Given the description of an element on the screen output the (x, y) to click on. 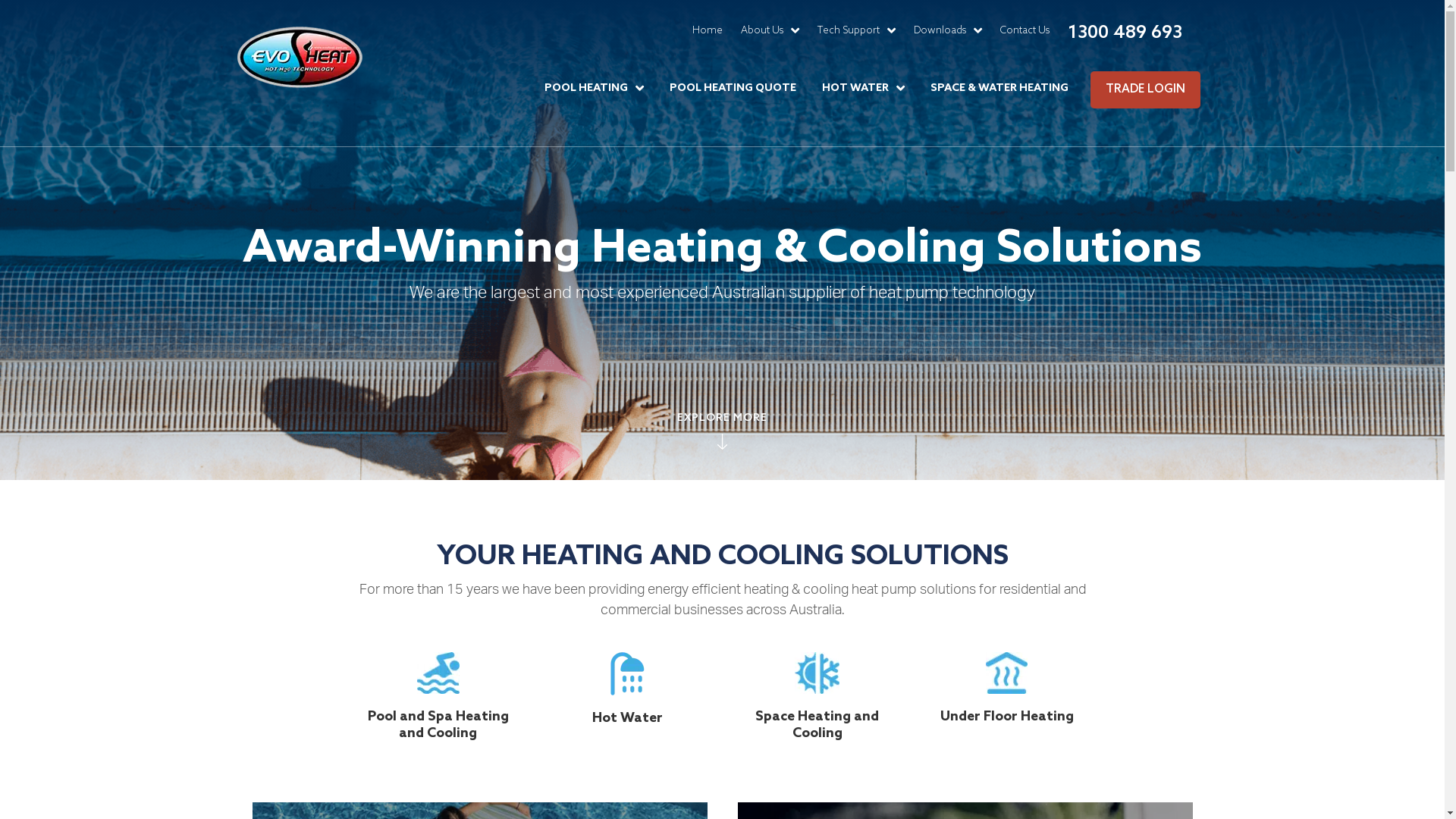
Pool and Spa Heating and Cooling Element type: text (437, 724)
POOL HEATING Element type: text (593, 87)
POOL HEATING QUOTE Element type: text (731, 87)
Home Element type: text (706, 30)
icon-space-heating Element type: hover (816, 651)
icon-pool Element type: hover (438, 651)
Downloads Element type: text (947, 30)
icon-hot-water Element type: hover (627, 651)
img-hot-water Element type: hover (964, 802)
Hot Water Element type: text (627, 717)
TRADE LOGIN Element type: text (1145, 89)
Tech Support Element type: text (856, 30)
EXPLORE MORE Element type: text (722, 429)
1300 489 693 Element type: text (1124, 32)
Under Floor Heating Element type: text (1006, 716)
HOT WATER Element type: text (863, 87)
icon-underfloor Element type: hover (1006, 651)
Skip to main content Element type: text (0, 0)
SPACE & WATER HEATING Element type: text (998, 87)
Contact Us Element type: text (1023, 30)
img-pool-and-spa Element type: hover (478, 802)
About Us Element type: text (769, 30)
Space Heating and Cooling Element type: text (816, 724)
